Given the description of an element on the screen output the (x, y) to click on. 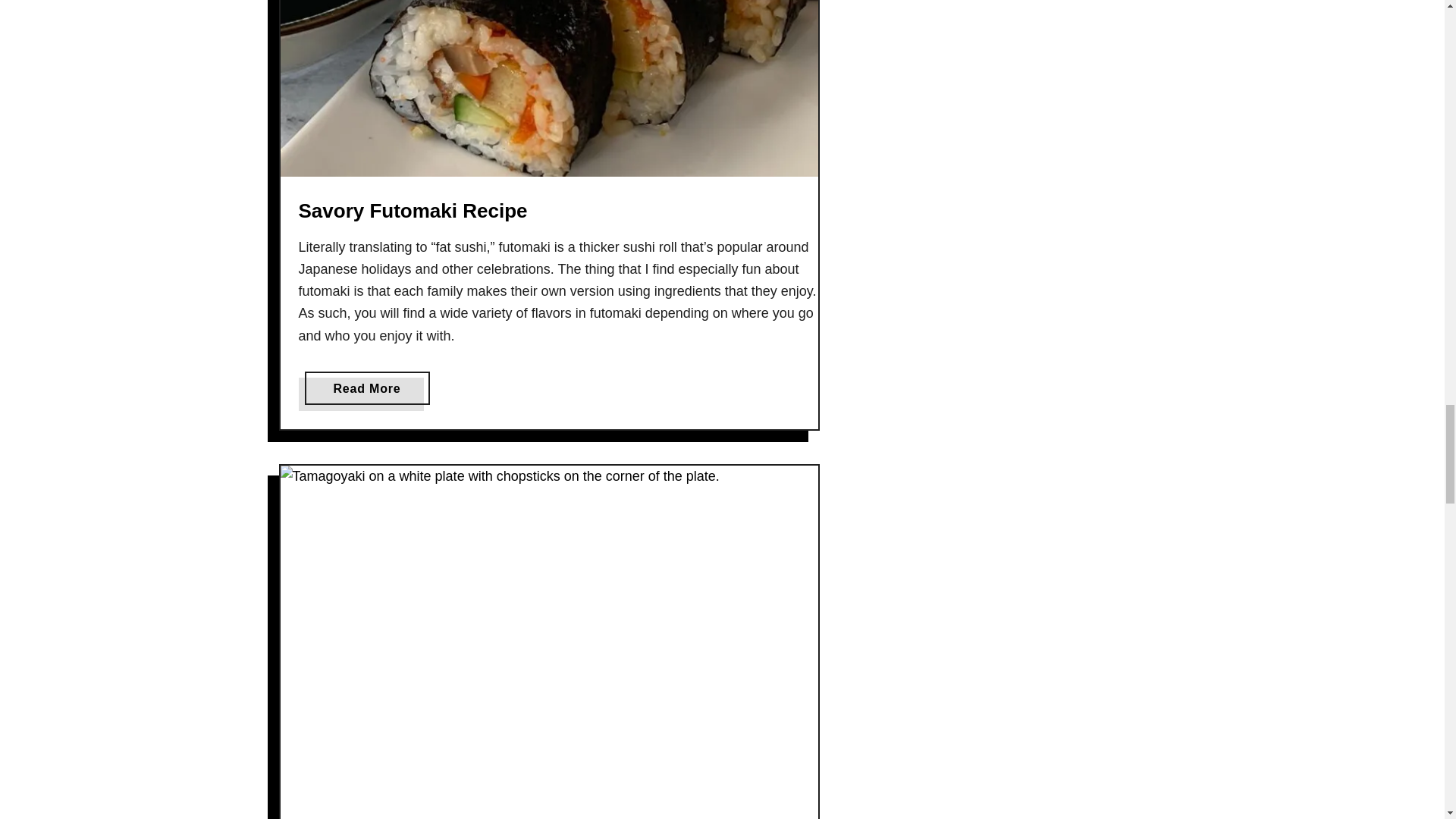
Savory Futomaki Recipe (412, 210)
Savory Futomaki Recipe (366, 387)
